Given the description of an element on the screen output the (x, y) to click on. 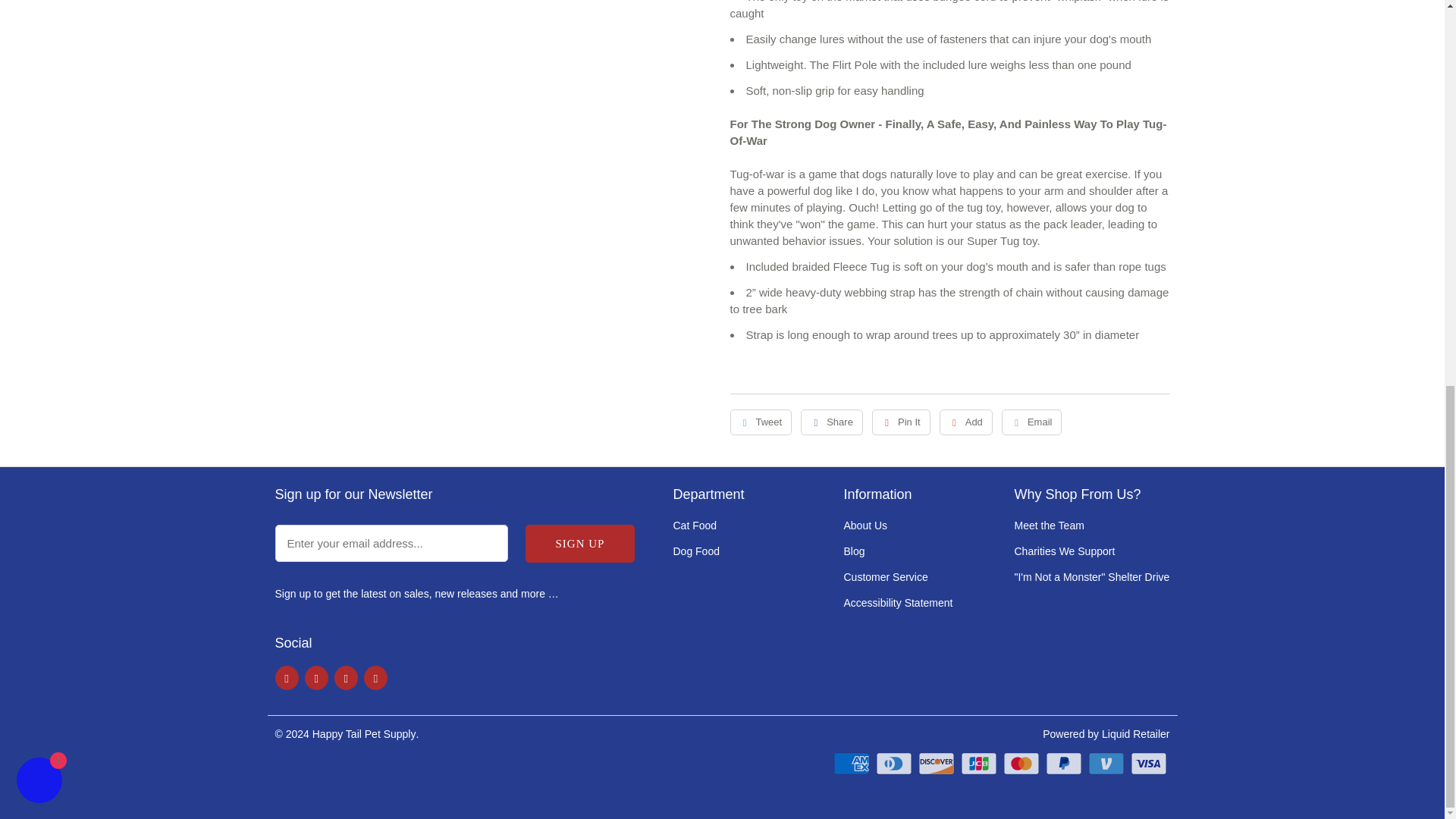
Happy Tail Pet Supply on Facebook (316, 677)
Happy Tail Pet Supply on Twitter (286, 677)
Share this on Facebook (831, 421)
Sign Up (579, 543)
Shopify online store chat (38, 53)
Email this to a friend (1031, 421)
Happy Tail Pet Supply on Instagram (346, 677)
Share this on Twitter (760, 421)
Share this on Pinterest (901, 421)
Email Happy Tail Pet Supply (375, 677)
